Given the description of an element on the screen output the (x, y) to click on. 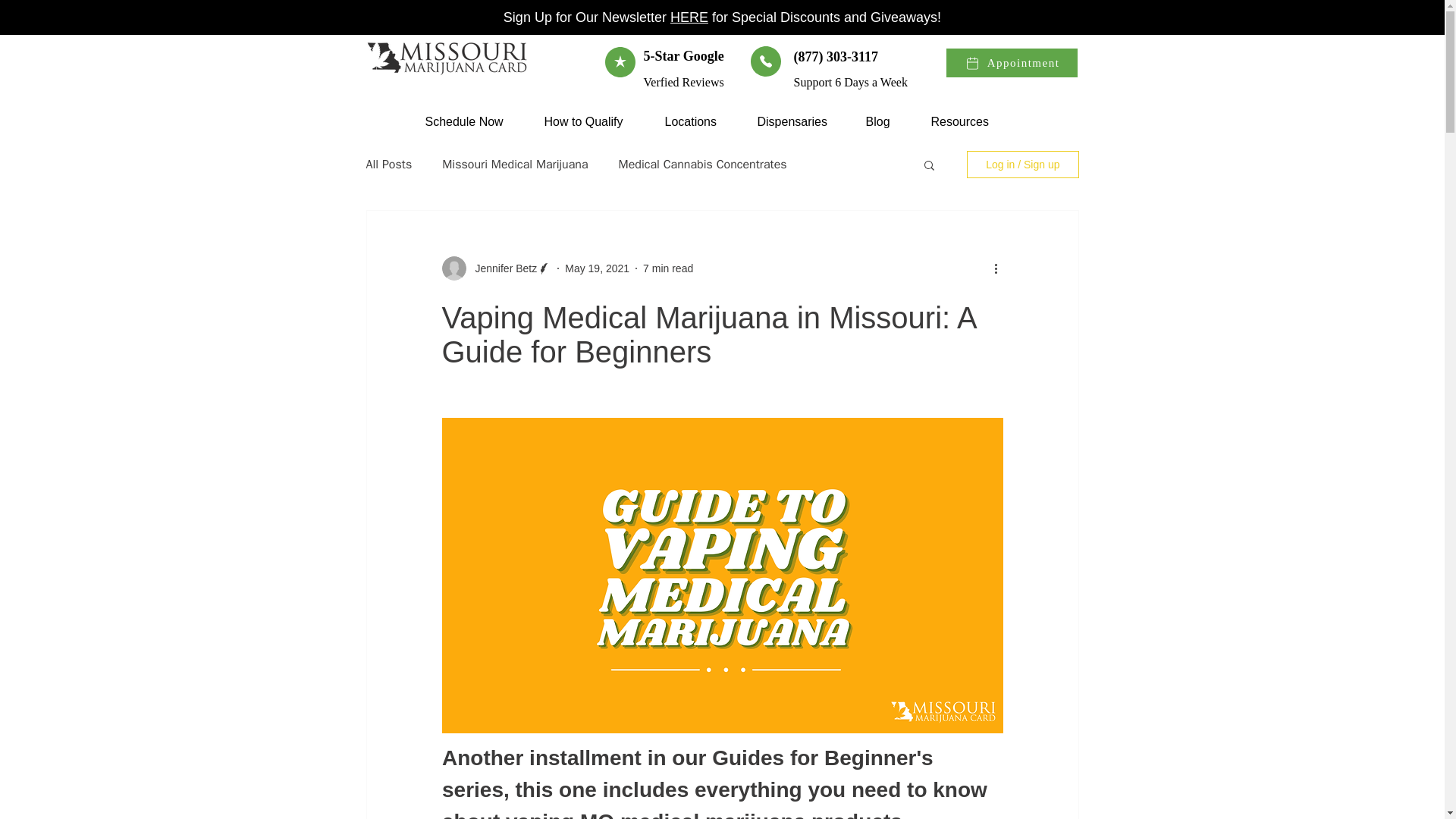
Verfied Reviews (683, 82)
May 19, 2021 (596, 268)
Missouri Medical Marijuana (515, 164)
All Posts (388, 164)
Appointment (1010, 62)
Blog (885, 121)
Schedule Now (472, 121)
 Special Discounts and Giveaways! (834, 17)
Jennifer Betz (501, 268)
5-Star Google (683, 55)
HERE (688, 17)
Medical Cannabis Concentrates (702, 164)
How to Qualify (592, 121)
Dispensaries (799, 121)
7 min read (668, 268)
